Given the description of an element on the screen output the (x, y) to click on. 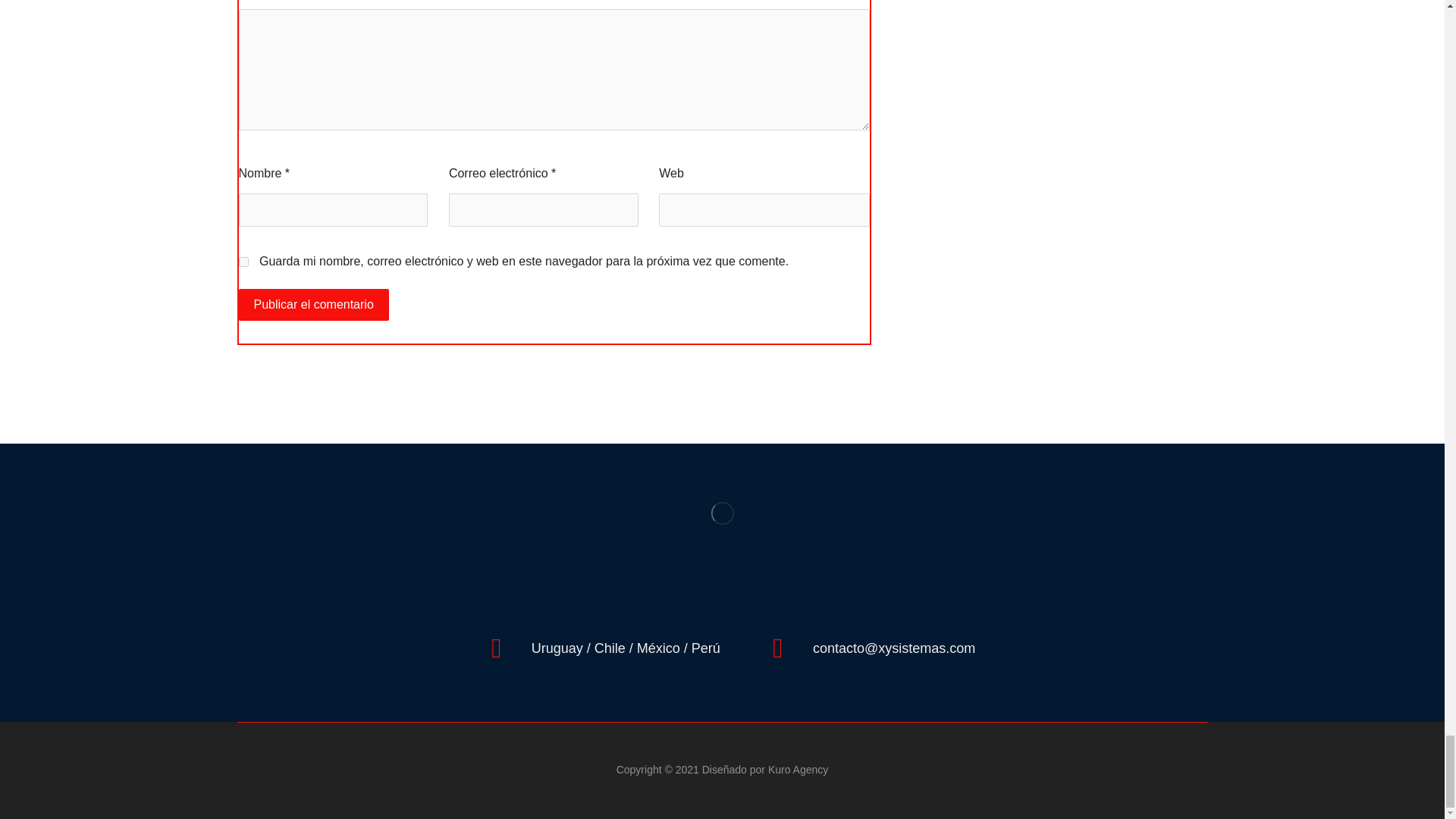
Publicar el comentario (313, 305)
Publicar el comentario (313, 305)
yes (242, 261)
